Given the description of an element on the screen output the (x, y) to click on. 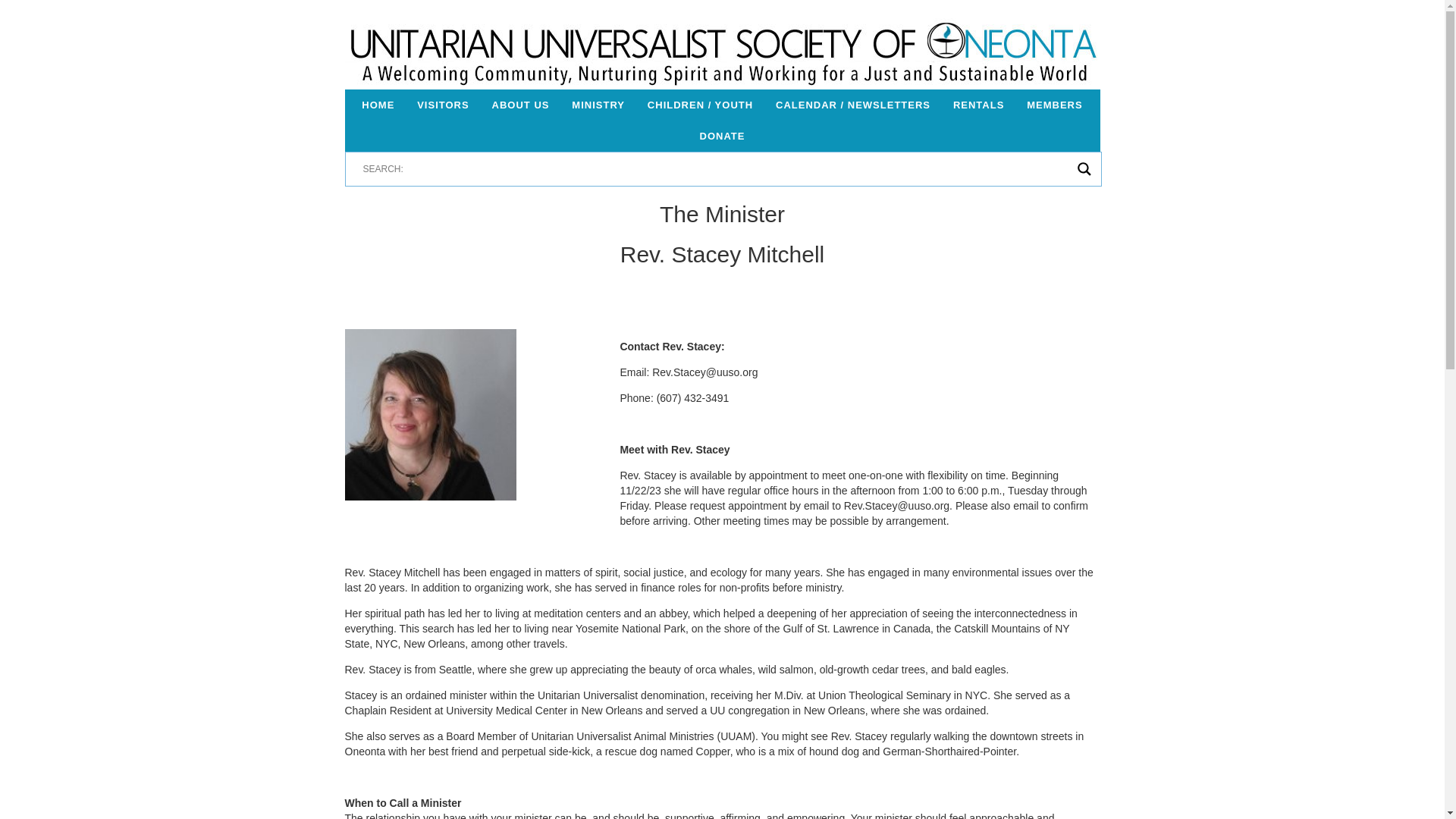
ABOUT US (520, 104)
MINISTRY (598, 104)
VISITORS (443, 104)
HOME (378, 104)
